Given the description of an element on the screen output the (x, y) to click on. 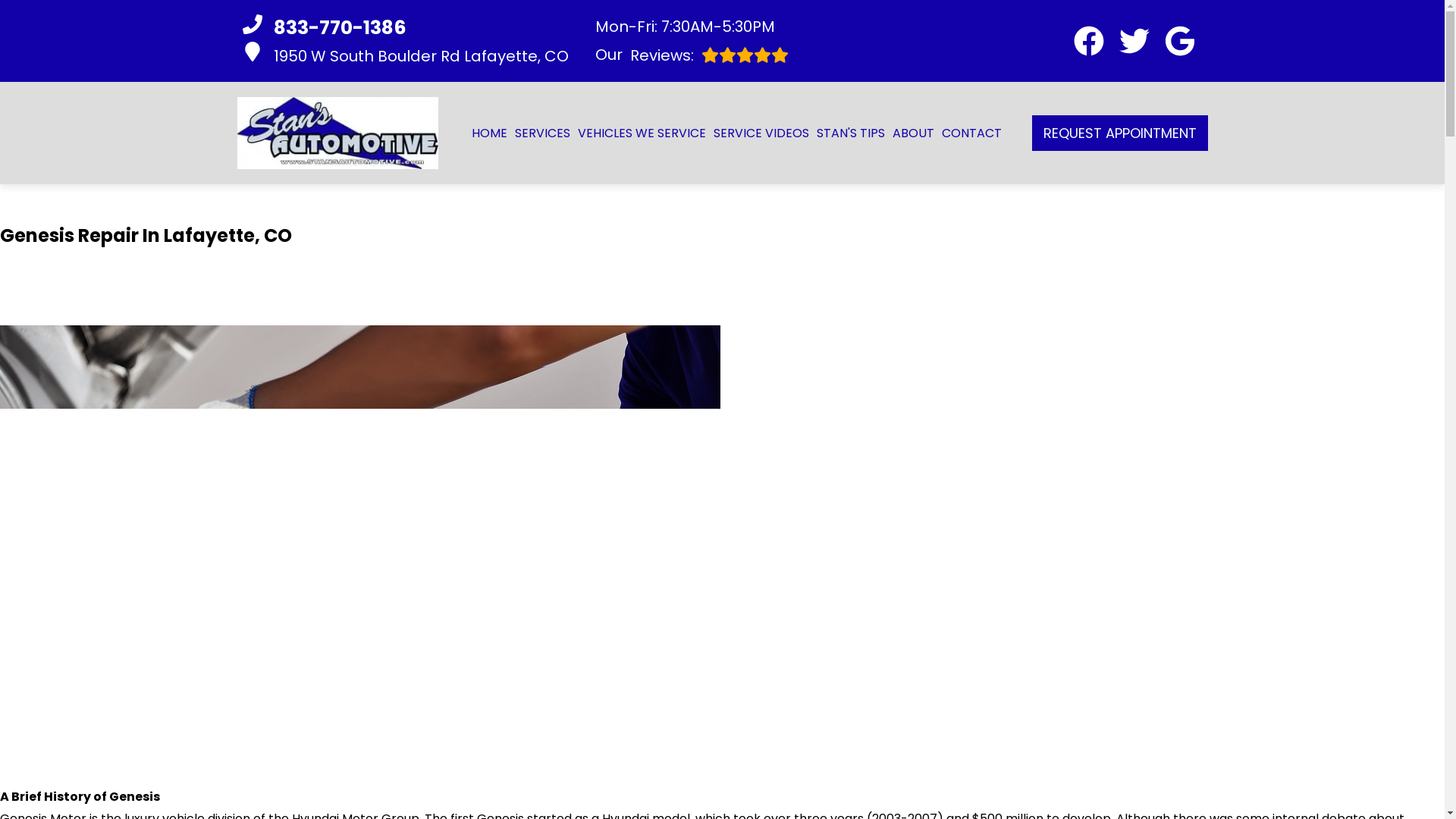
Home (406, 54)
Twitter URL (488, 133)
HOME (1134, 40)
Facebook URL (488, 133)
Google My Business URL (1088, 40)
VEHICLES WE SERVICE (1179, 40)
833-770-1386 (690, 54)
Stan's Automotive (642, 133)
SERVICES (406, 27)
Our Reviews (336, 132)
Call Stan's Automotive (541, 133)
Services (690, 54)
